Given the description of an element on the screen output the (x, y) to click on. 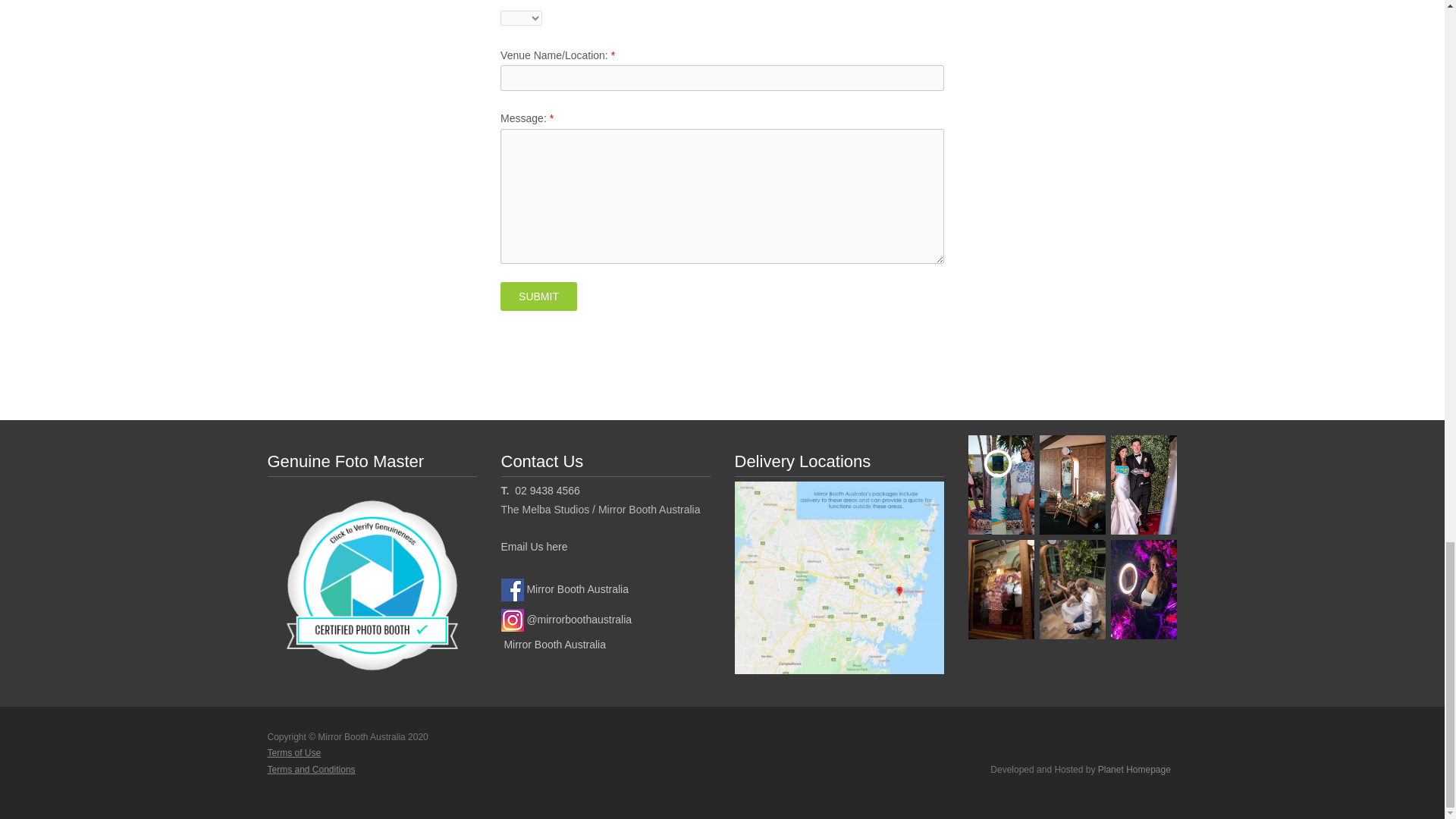
02 9438 4566 (545, 490)
SUBMIT (538, 296)
Mirror Booth Australia (552, 644)
Mirror Booth Australia (564, 589)
Email Us here (533, 546)
SUBMIT (538, 296)
